Given the description of an element on the screen output the (x, y) to click on. 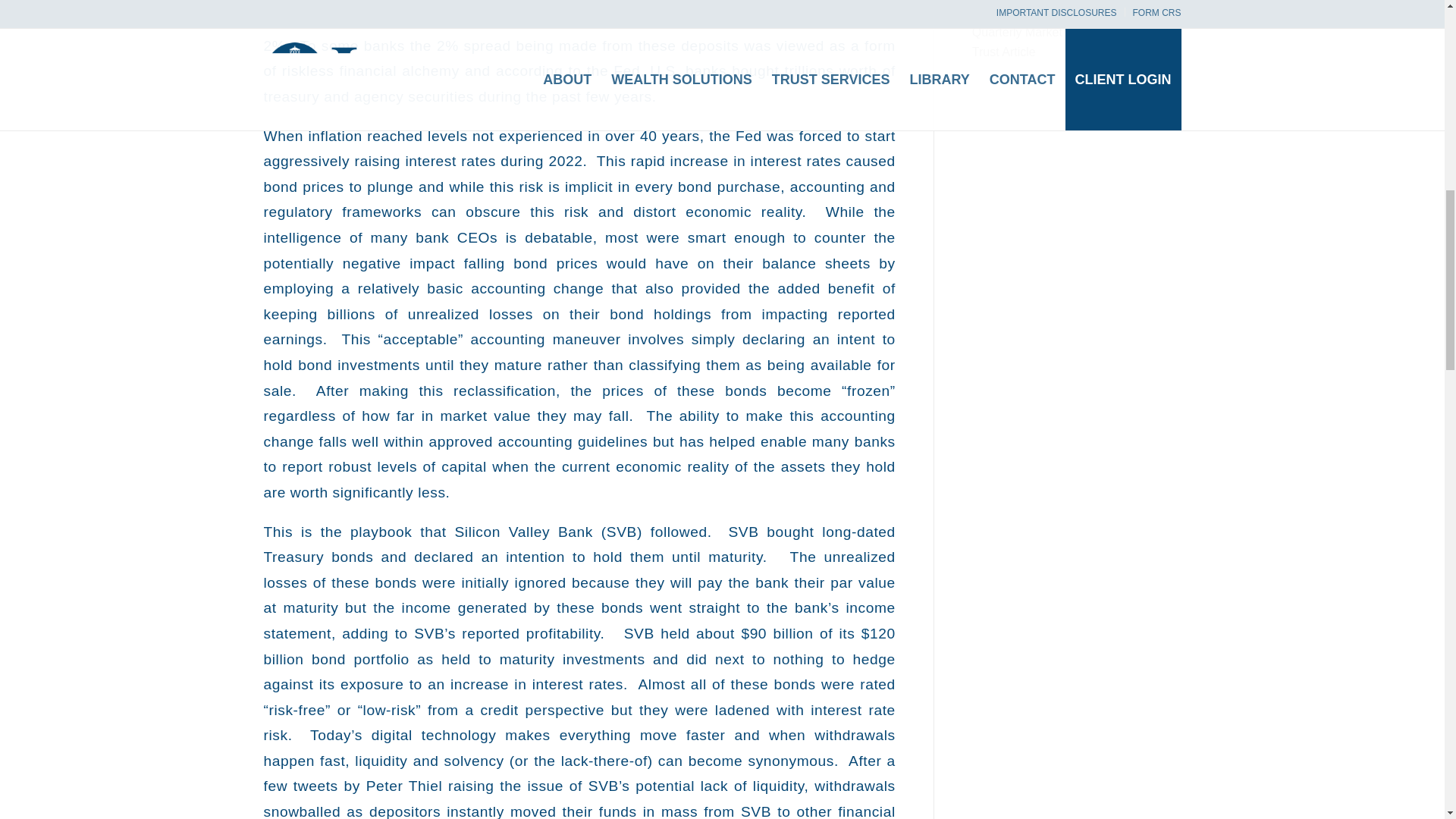
News (987, 11)
Quarterly Market Commentary (1053, 31)
